Given the description of an element on the screen output the (x, y) to click on. 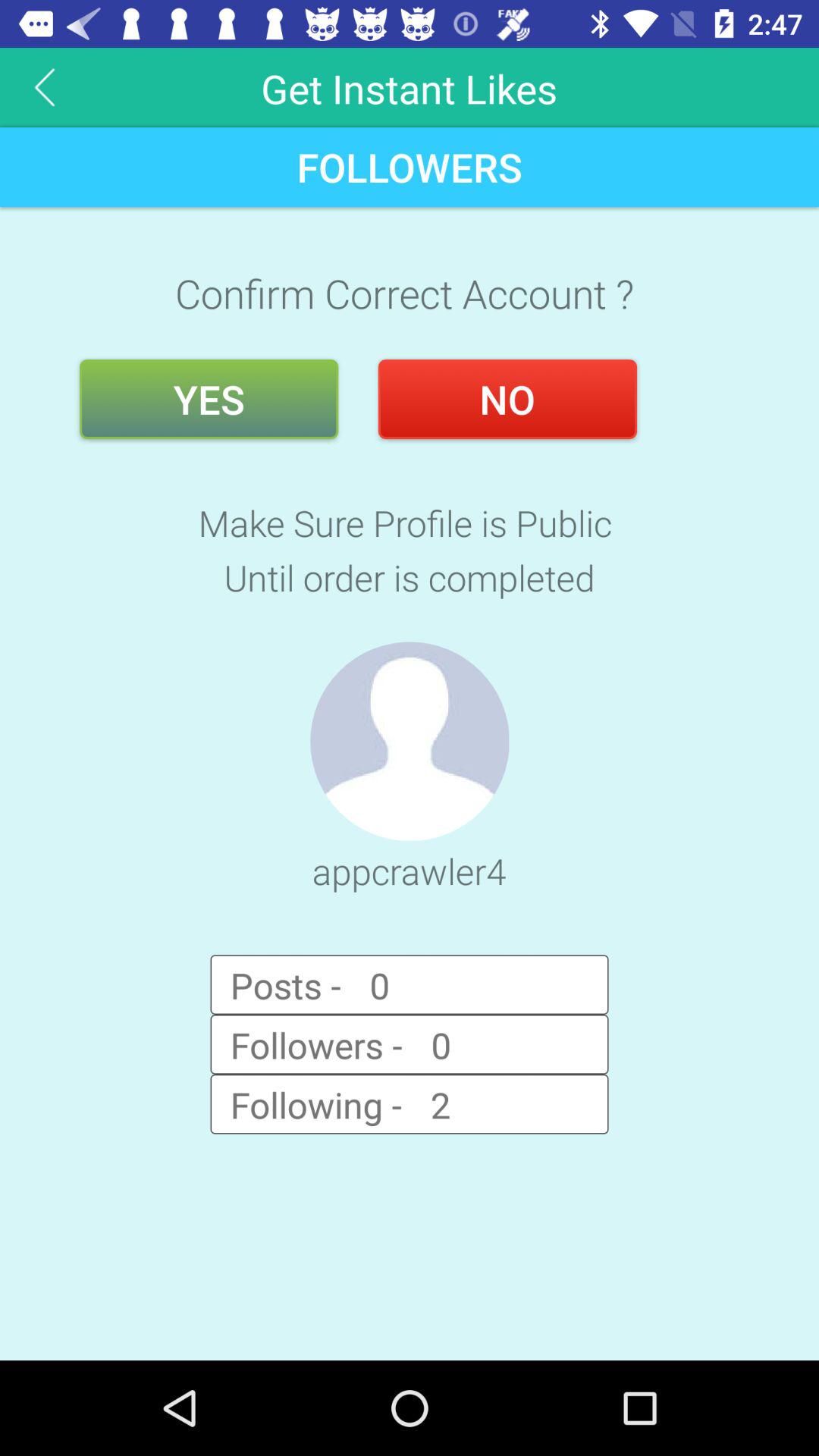
swipe until the yes button (208, 399)
